Given the description of an element on the screen output the (x, y) to click on. 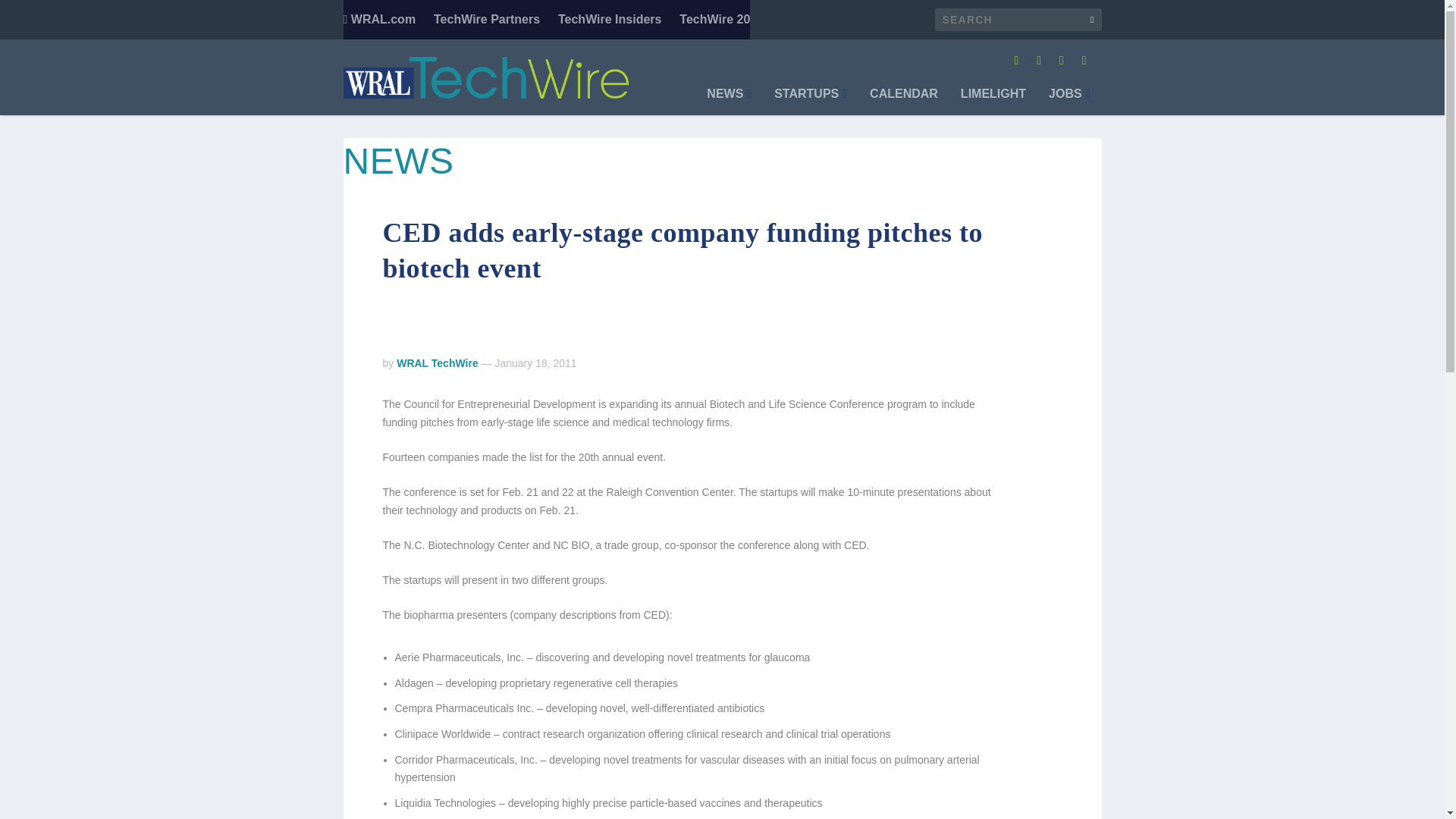
WRAL.com (378, 19)
TechWire Partners (486, 19)
LIMELIGHT (993, 101)
STARTUPS (810, 101)
Search for: (1017, 19)
TechWire Insiders (609, 19)
CALENDAR (903, 101)
NEWS (728, 101)
TechWire 20 (714, 19)
JOBS (1068, 101)
